Given the description of an element on the screen output the (x, y) to click on. 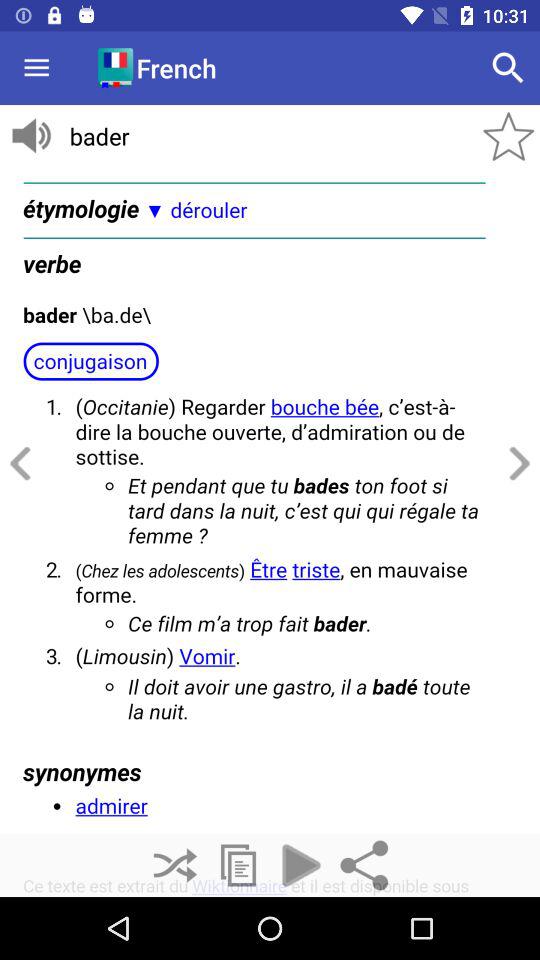
copy to clipboard (238, 865)
